Given the description of an element on the screen output the (x, y) to click on. 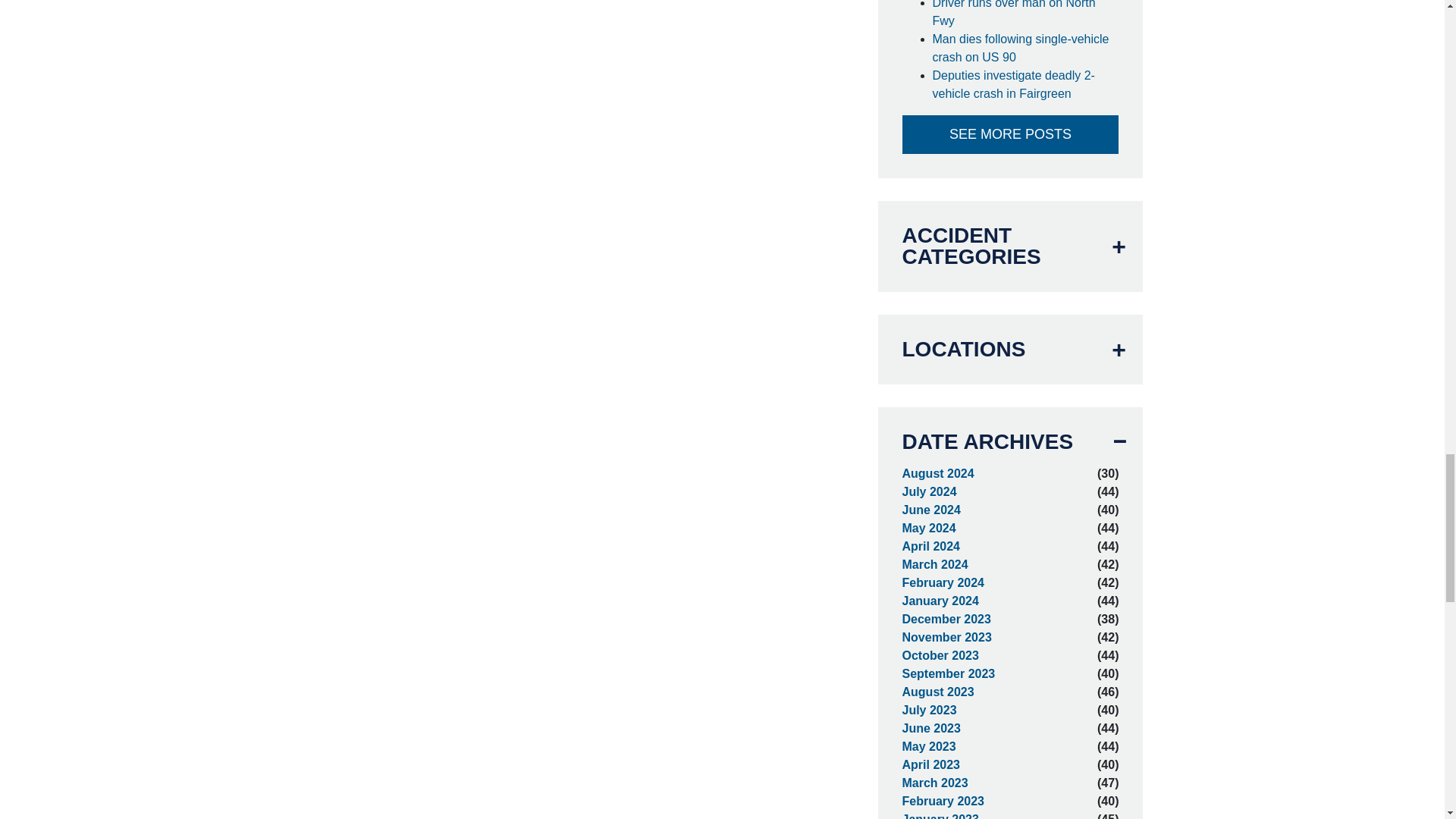
SEE MORE POSTS (1010, 134)
Deputies investigate deadly 2-vehicle crash in Fairgreen (1026, 84)
Man dies following single-vehicle crash on US 90 (1026, 48)
Driver runs over man on North Fwy (1026, 15)
